Given the description of an element on the screen output the (x, y) to click on. 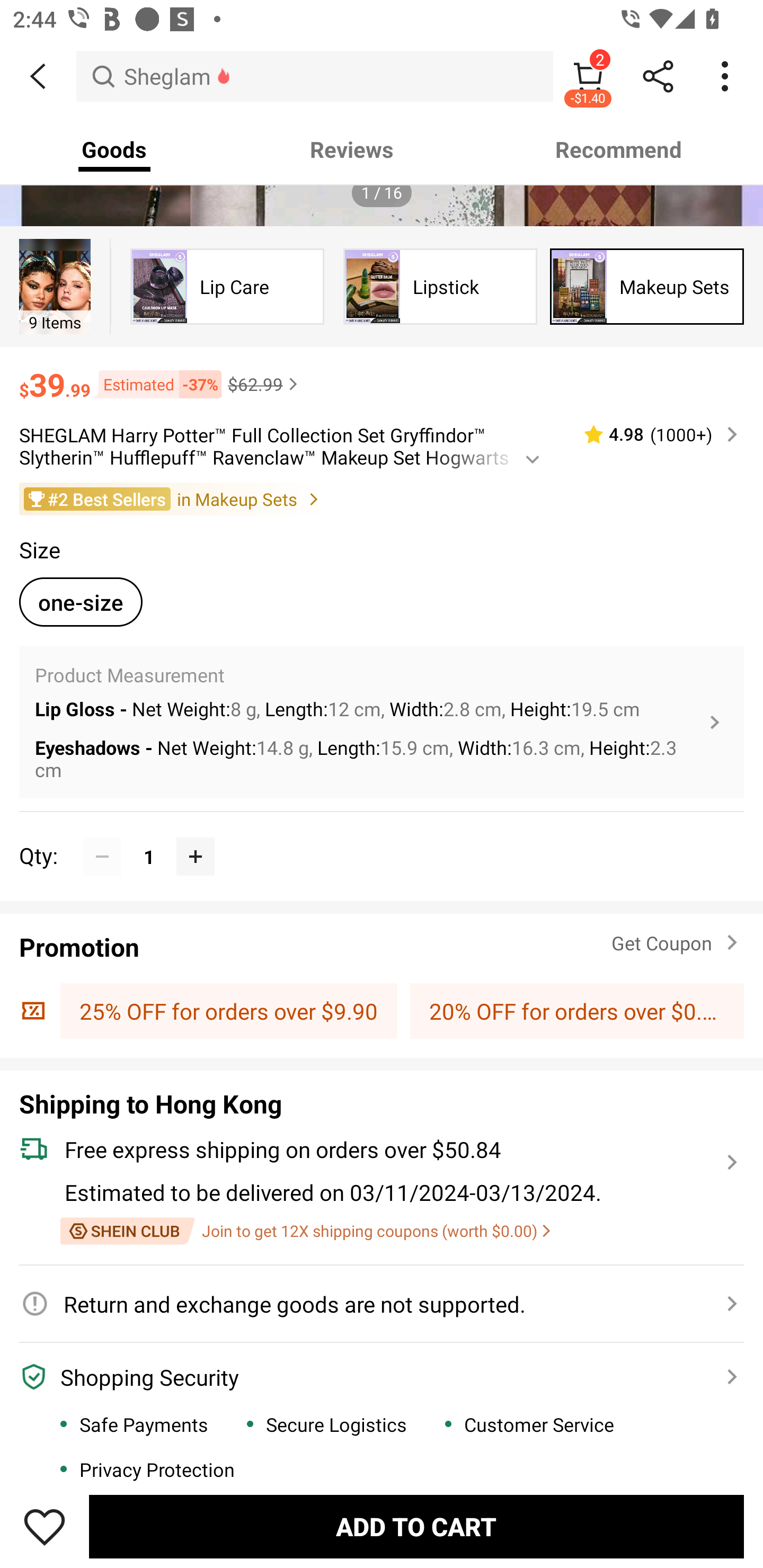
BACK (38, 75)
2 -$1.40 (588, 75)
Sheglam (314, 75)
Goods (114, 149)
Reviews (351, 149)
Recommend (618, 149)
1 / 16 (381, 192)
Lip Care (227, 285)
Lipstick (440, 285)
Makeup Sets (646, 285)
$39.99 Estimated -37% $62.99 (381, 376)
Estimated -37% (155, 384)
$62.99 (265, 384)
4.98 (1000‎+) (653, 433)
#2 Best Sellers in Makeup Sets (381, 498)
Size (39, 549)
one-size one-sizeselected option (80, 602)
Qty: 1 (381, 836)
Join to get 12X shipping coupons (worth $0.00) (305, 1230)
Return and exchange goods are not supported. (370, 1303)
ADD TO CART (416, 1526)
Save (44, 1526)
